Given the description of an element on the screen output the (x, y) to click on. 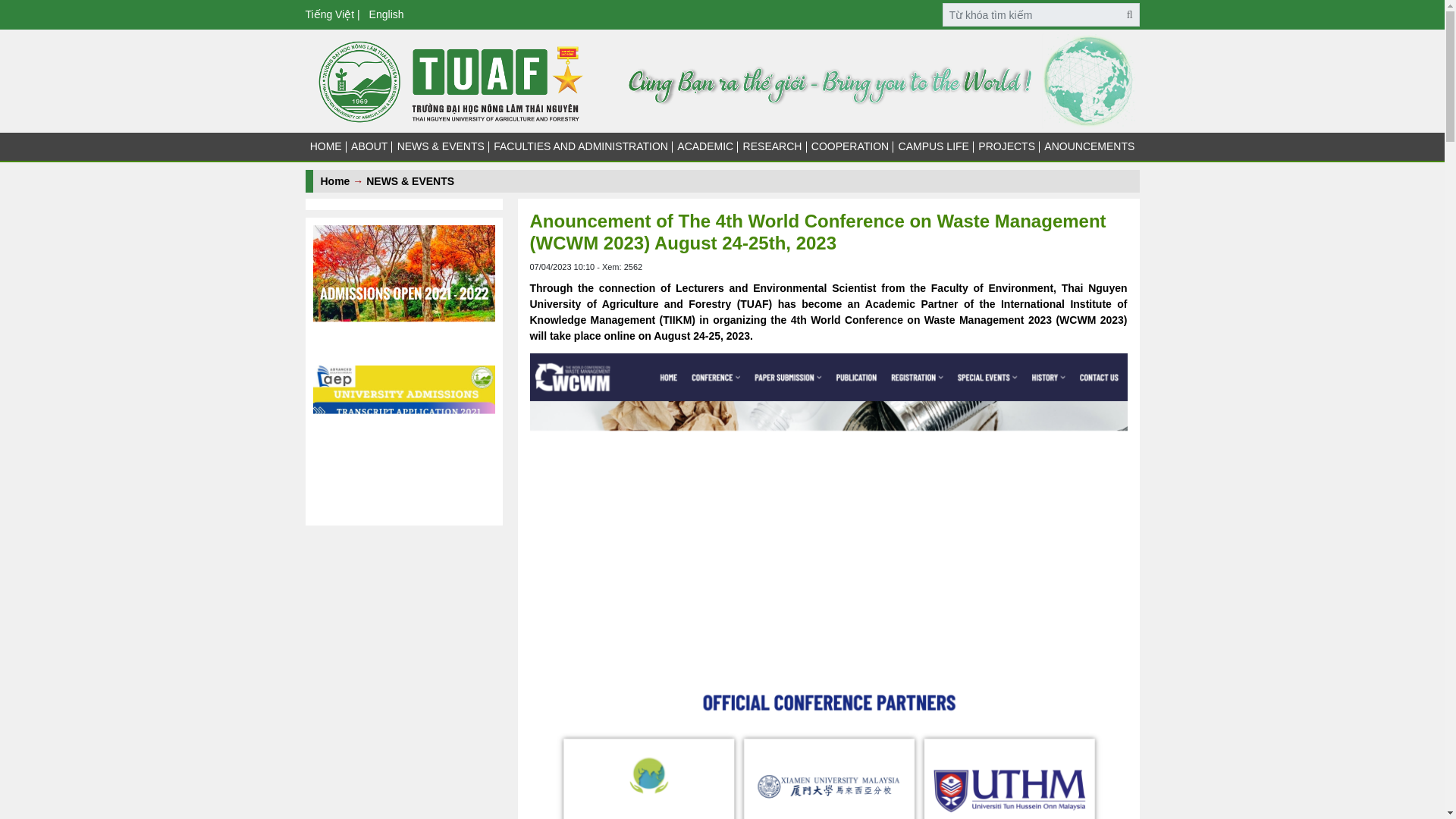
FACULTIES AND ADMINISTRATION (580, 146)
English (389, 14)
ACADEMIC (705, 146)
ABOUT (369, 146)
HOME (325, 146)
